Given the description of an element on the screen output the (x, y) to click on. 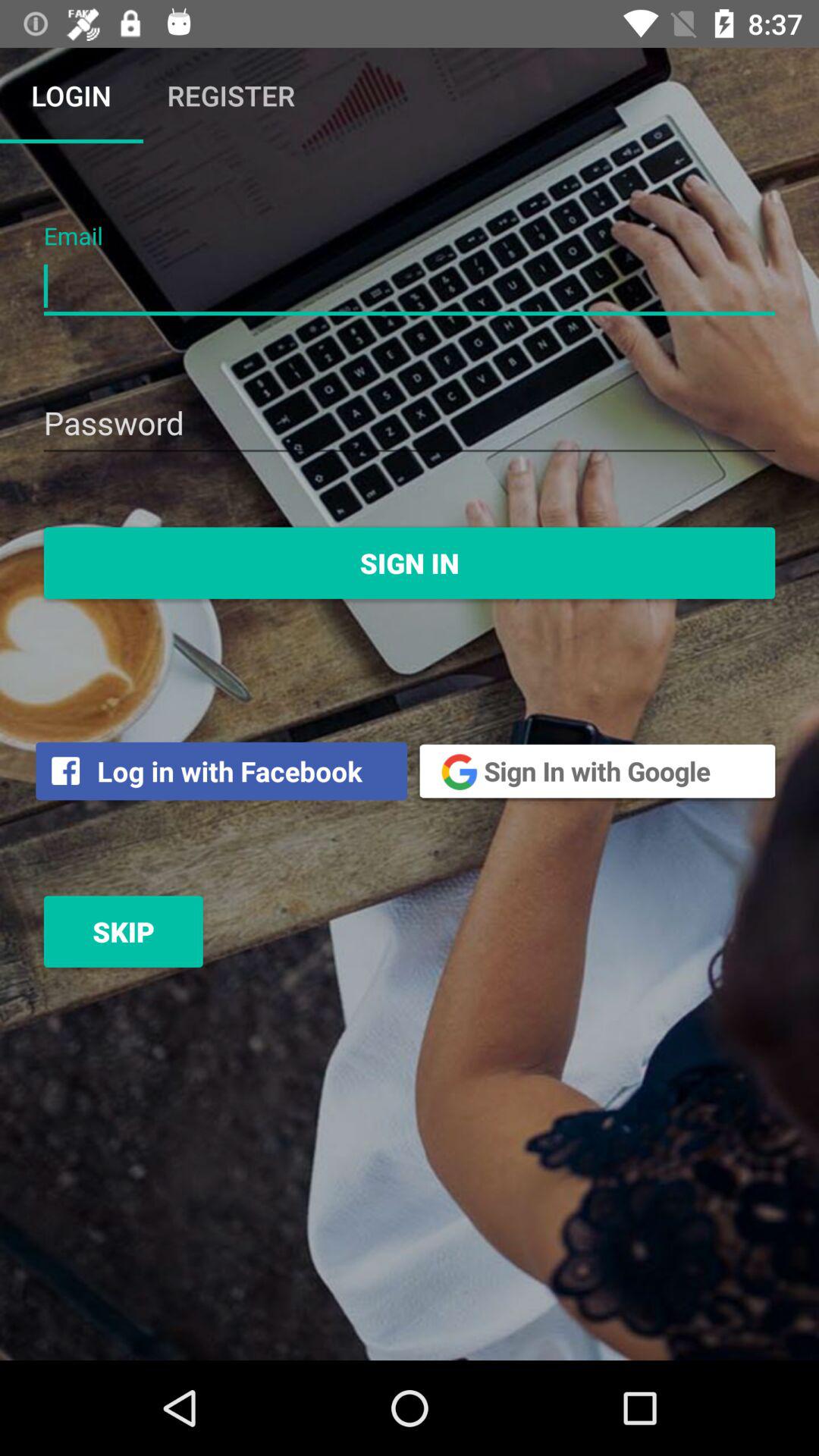
enter password (409, 424)
